Given the description of an element on the screen output the (x, y) to click on. 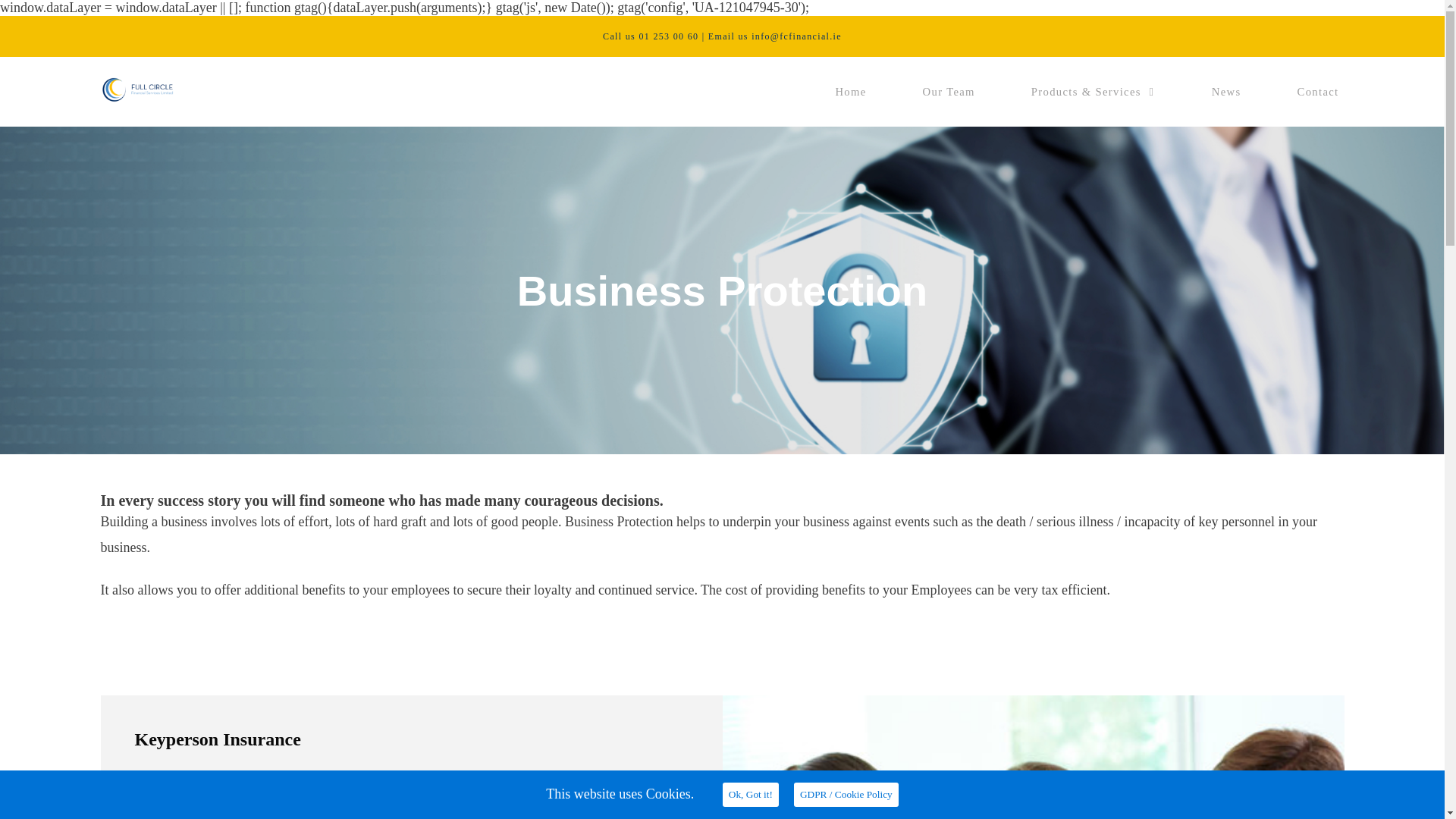
Our Team (948, 91)
Ok, Got it! (750, 794)
